Given the description of an element on the screen output the (x, y) to click on. 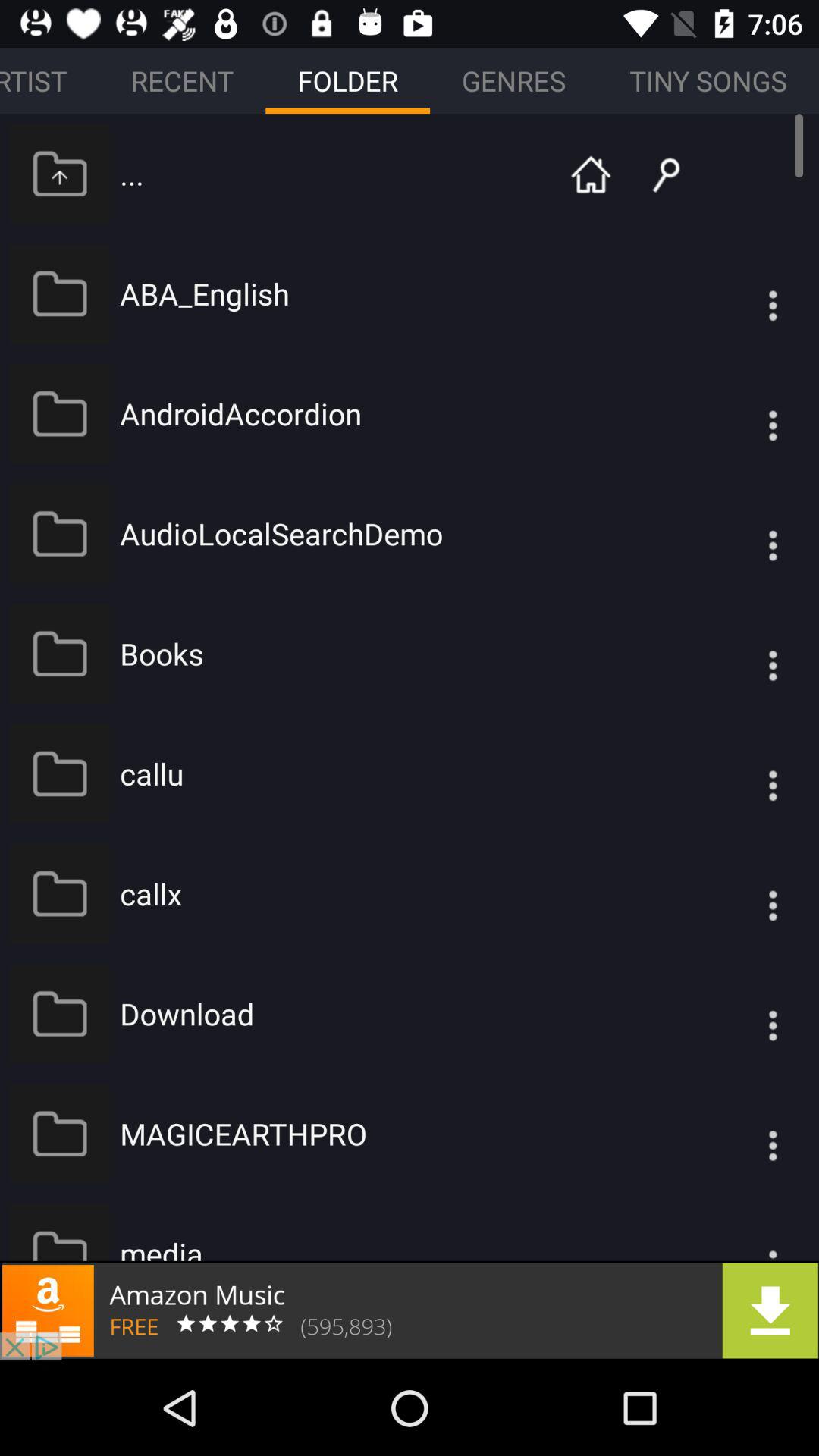
settings button (742, 1013)
